Given the description of an element on the screen output the (x, y) to click on. 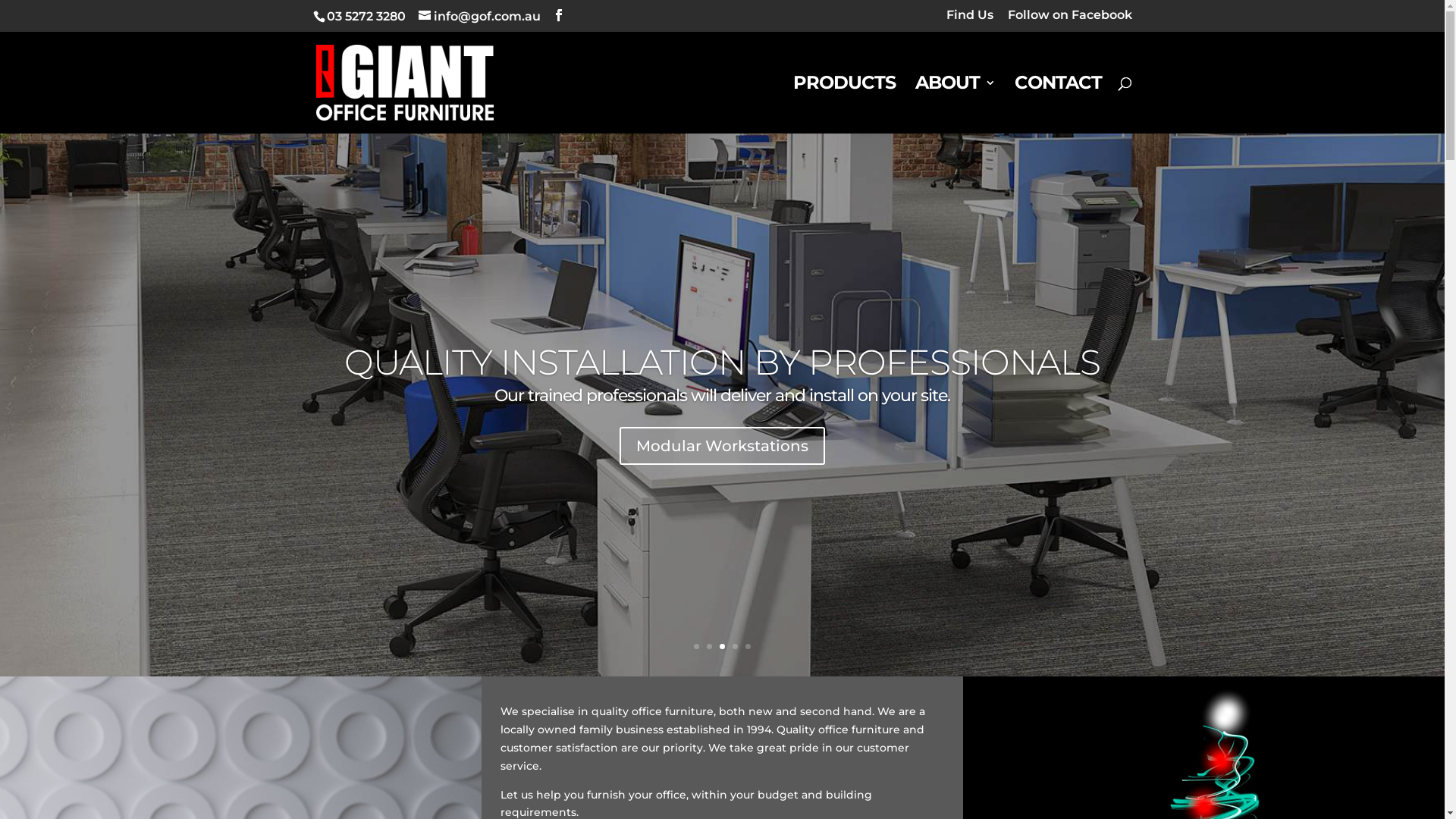
3 Element type: text (721, 646)
PRODUCTS Element type: text (844, 105)
Follow on Facebook Element type: text (1069, 19)
Modular Workstations Element type: text (722, 445)
CONTACT Element type: text (1057, 105)
QUALITY INSTALLATION BY PROFESSIONALS Element type: text (722, 361)
5 Element type: text (747, 646)
info@gof.com.au Element type: text (479, 16)
ABOUT Element type: text (954, 105)
2 Element type: text (709, 646)
Find Us Element type: text (969, 19)
4 Element type: text (734, 646)
1 Element type: text (696, 646)
